Given the description of an element on the screen output the (x, y) to click on. 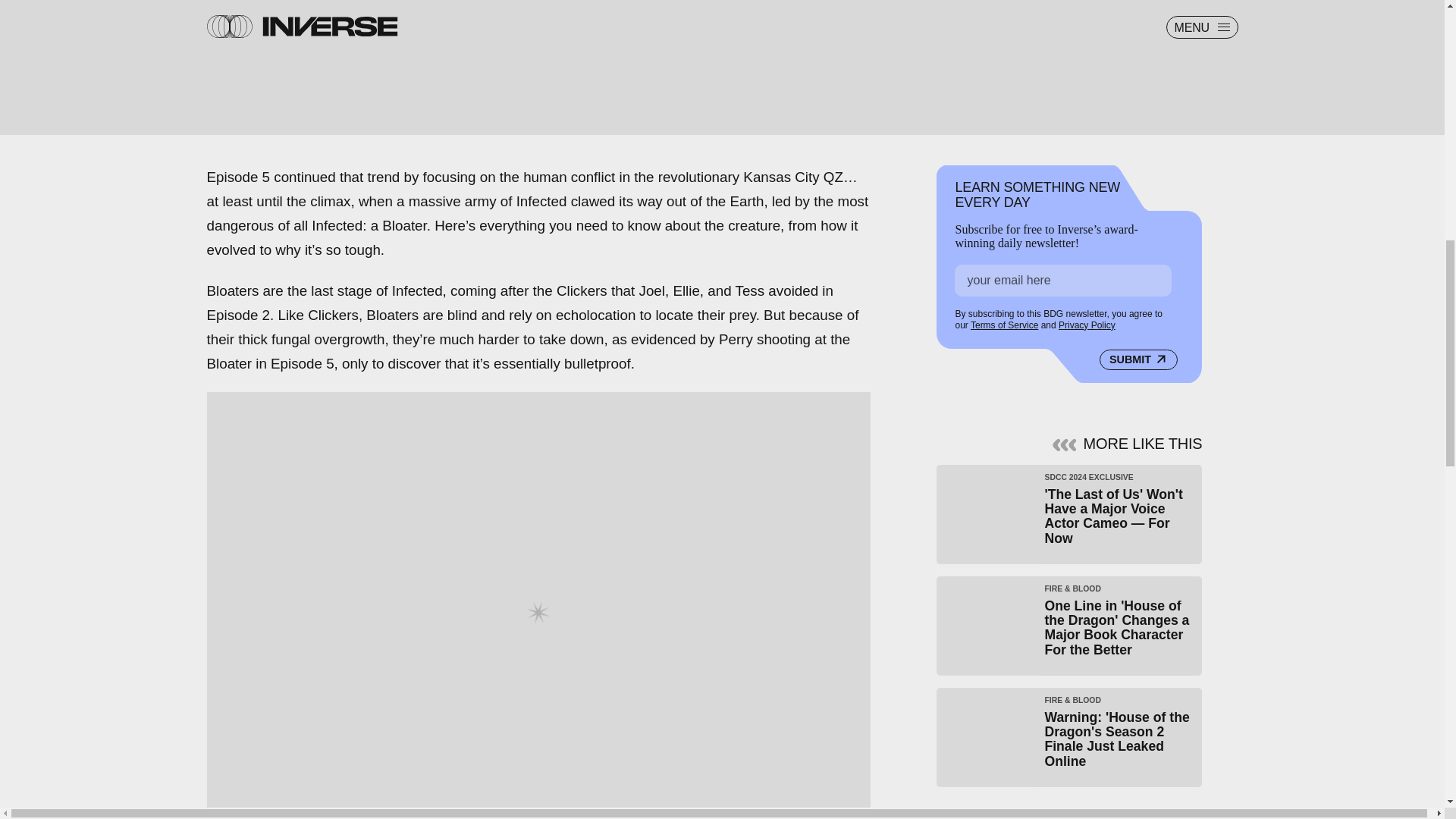
Terms of Service (1004, 321)
Privacy Policy (1086, 322)
SUBMIT (1138, 355)
